Given the description of an element on the screen output the (x, y) to click on. 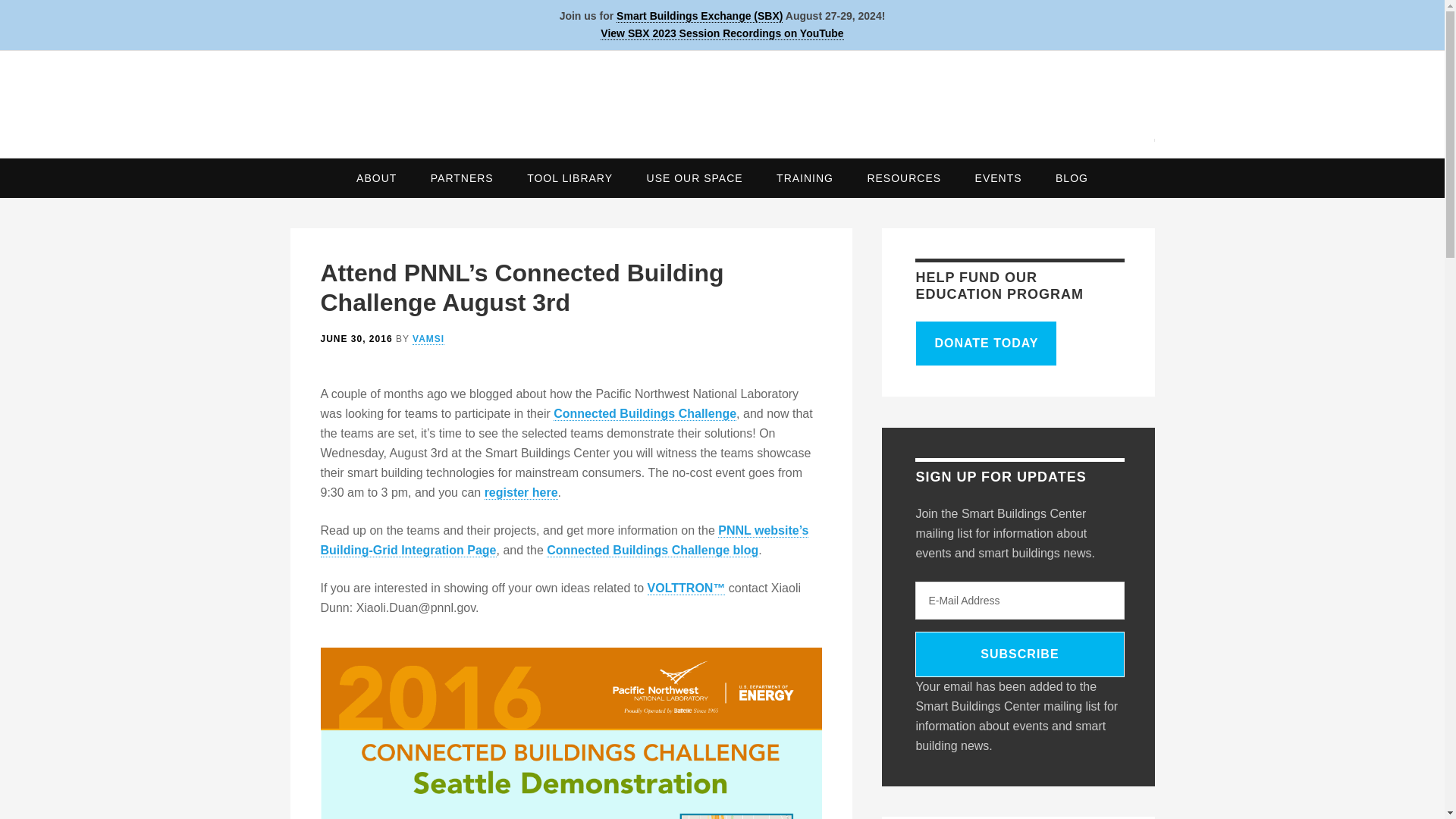
PARTNERS (461, 178)
SMART BUILDINGS CENTER (721, 98)
EVENTS (997, 178)
BLOG (1072, 178)
Subscribe (1019, 654)
TOOL LIBRARY (569, 178)
RESOURCES (903, 178)
View SBX 2023 Session Recordings on YouTube (721, 33)
ABOUT (376, 178)
TRAINING (804, 178)
